Given the description of an element on the screen output the (x, y) to click on. 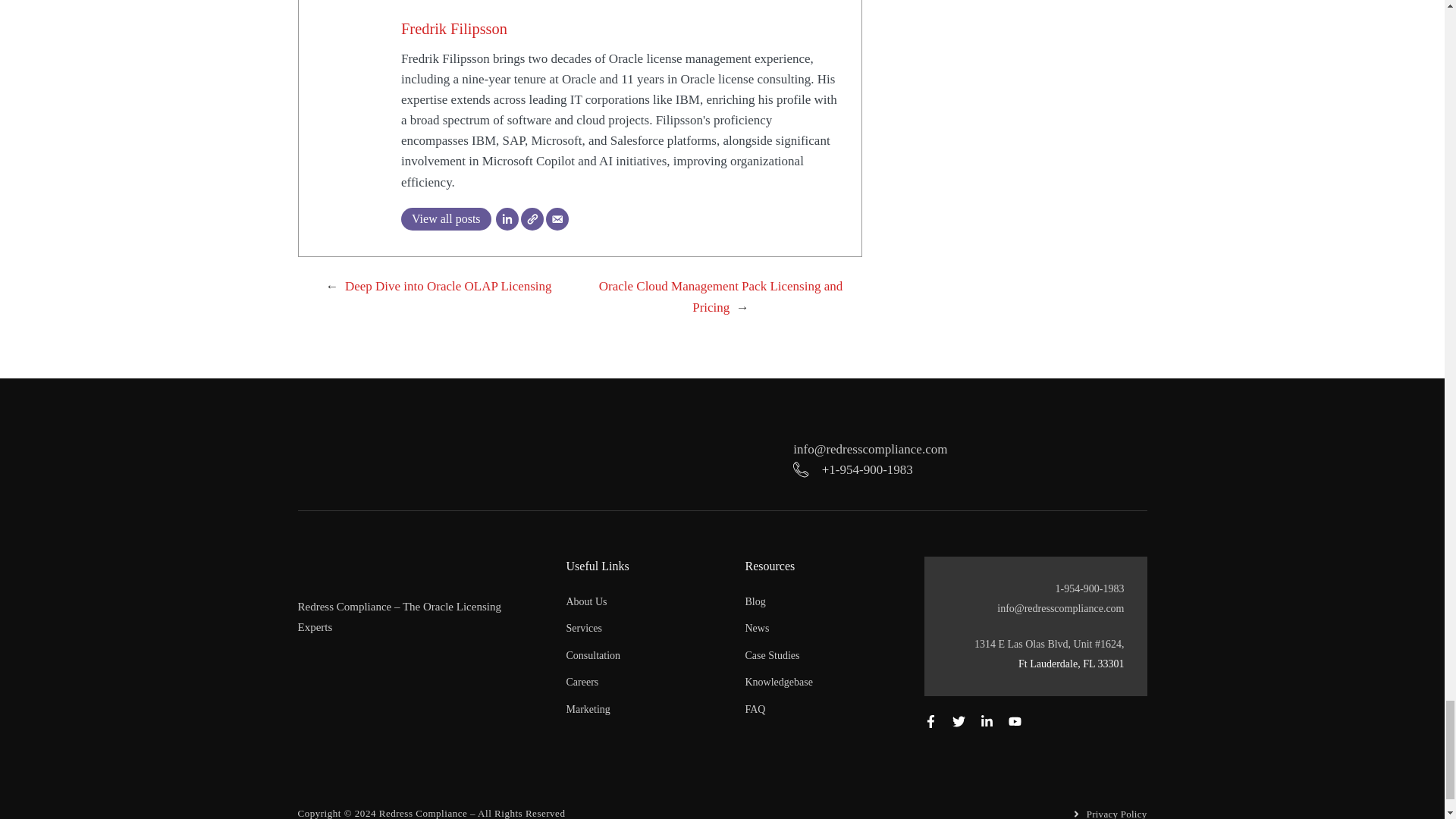
View all posts (446, 219)
Fredrik Filipsson (453, 28)
